Given the description of an element on the screen output the (x, y) to click on. 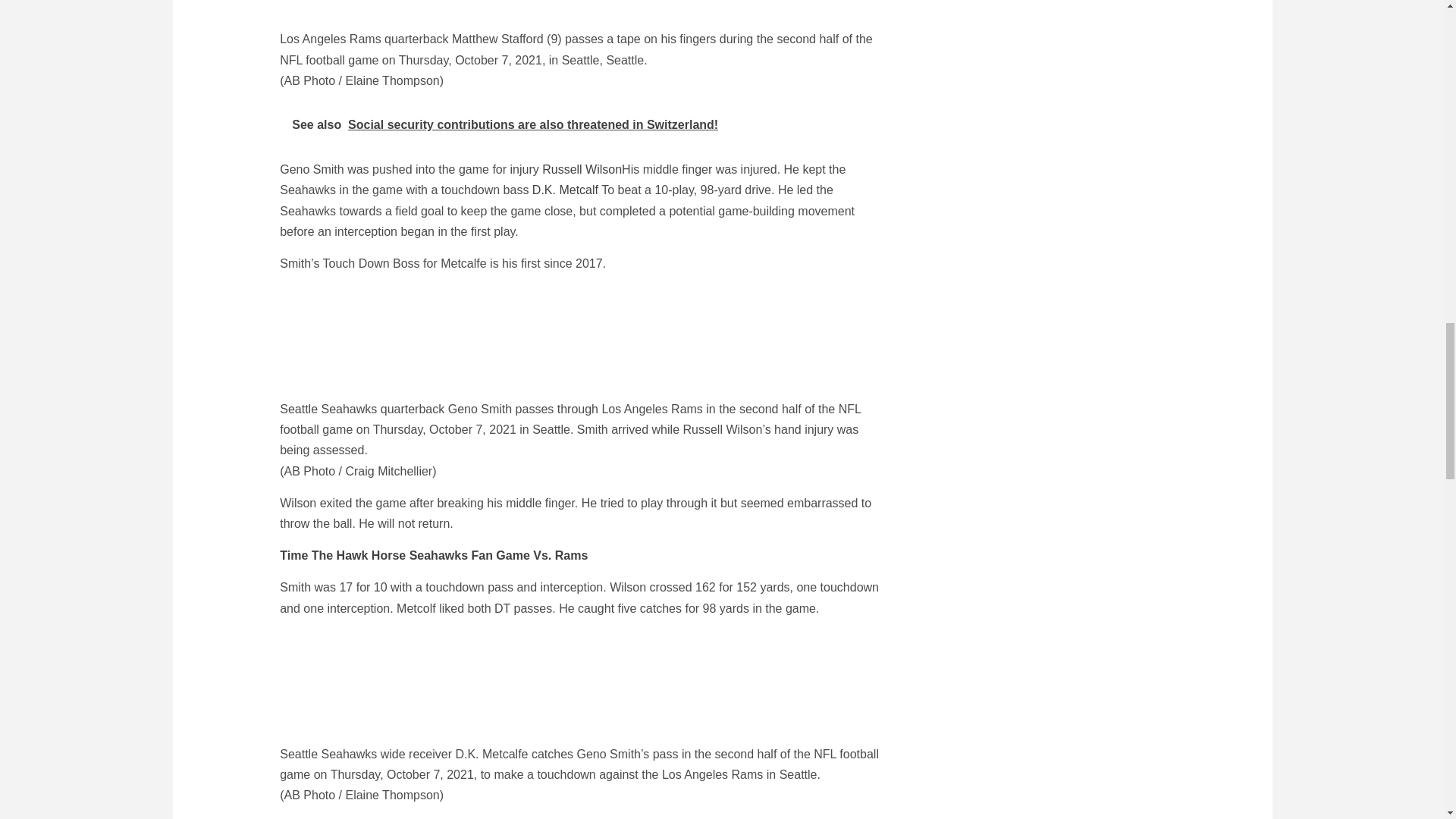
Time The Hawk Horse Seahawks Fan Game Vs. Rams (433, 554)
Russell Wilson (581, 169)
D.K. Metcalf (565, 189)
